Given the description of an element on the screen output the (x, y) to click on. 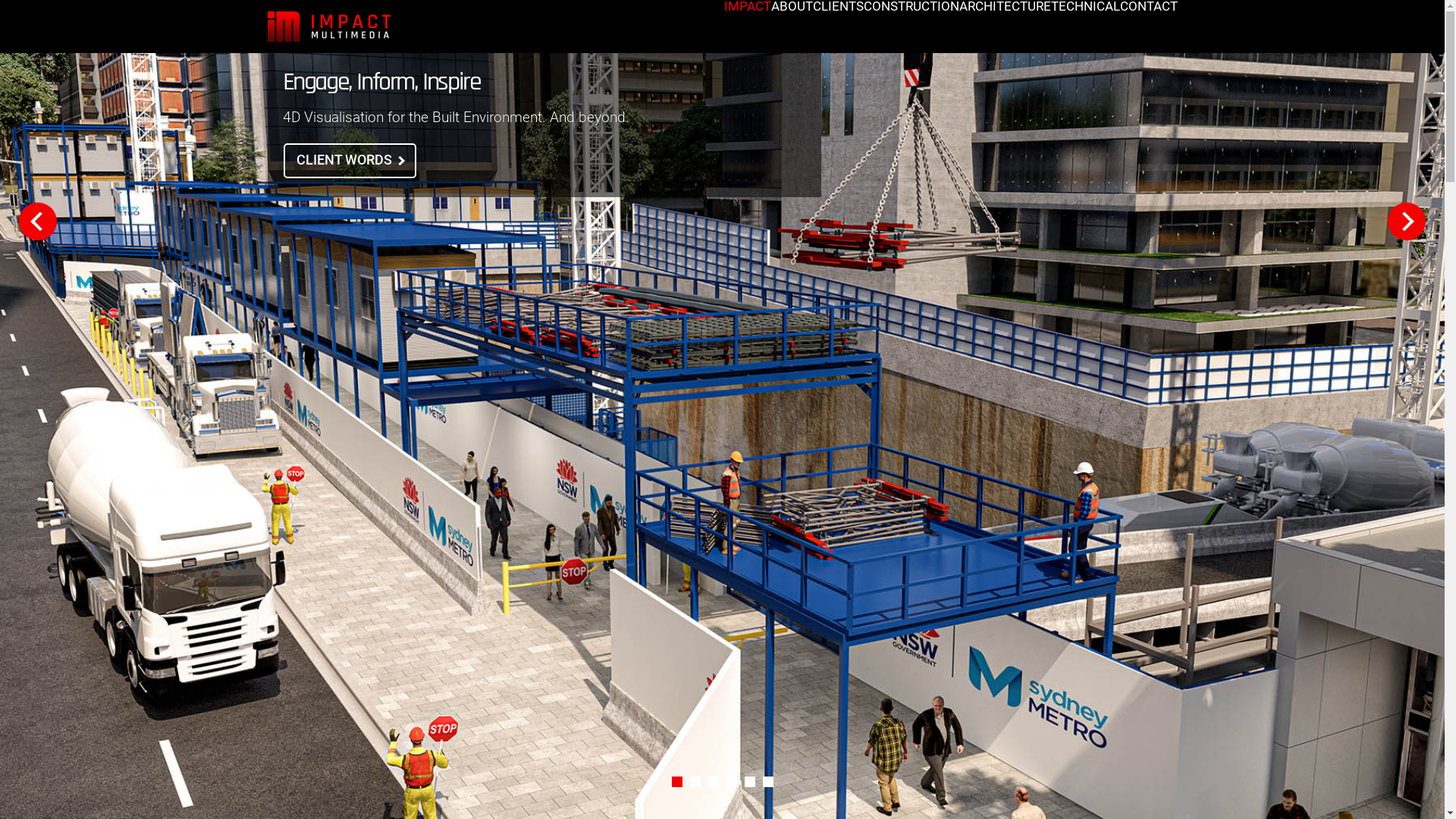
CLIENT WORDS Element type: text (349, 160)
